Given the description of an element on the screen output the (x, y) to click on. 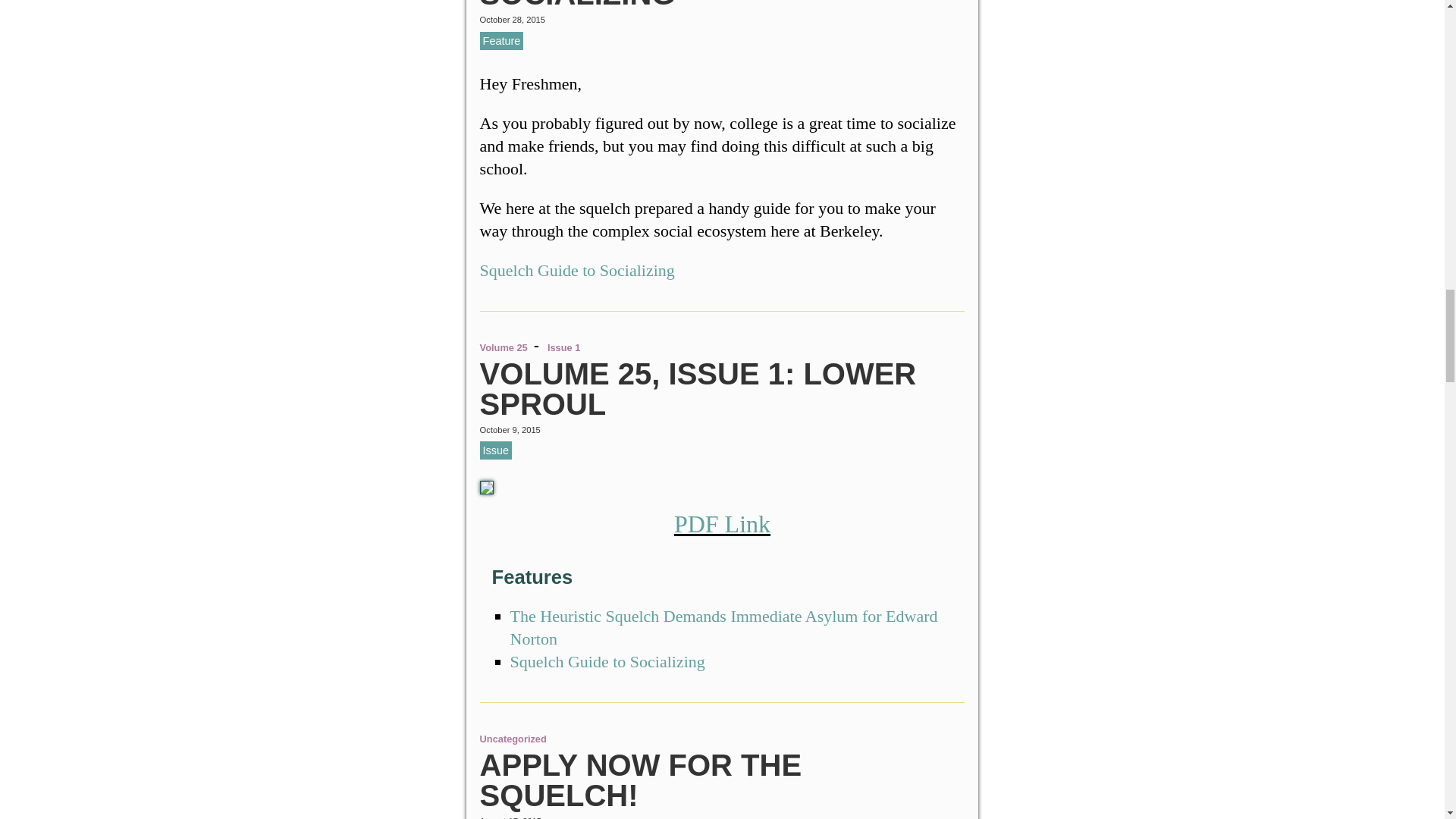
VOLUME 25, ISSUE 1: LOWER SPROUL (698, 388)
Squelch Guide to Socializing (607, 660)
PDF Link (722, 523)
Squelch Guide to Socializing (631, 5)
Feature (502, 40)
Issue (496, 450)
Volume 25, Issue 1: Lower Sproul (698, 388)
Uncategorized (513, 738)
Apply now for the Squelch! (641, 780)
Squelch Guide to Socializing (577, 270)
